Given the description of an element on the screen output the (x, y) to click on. 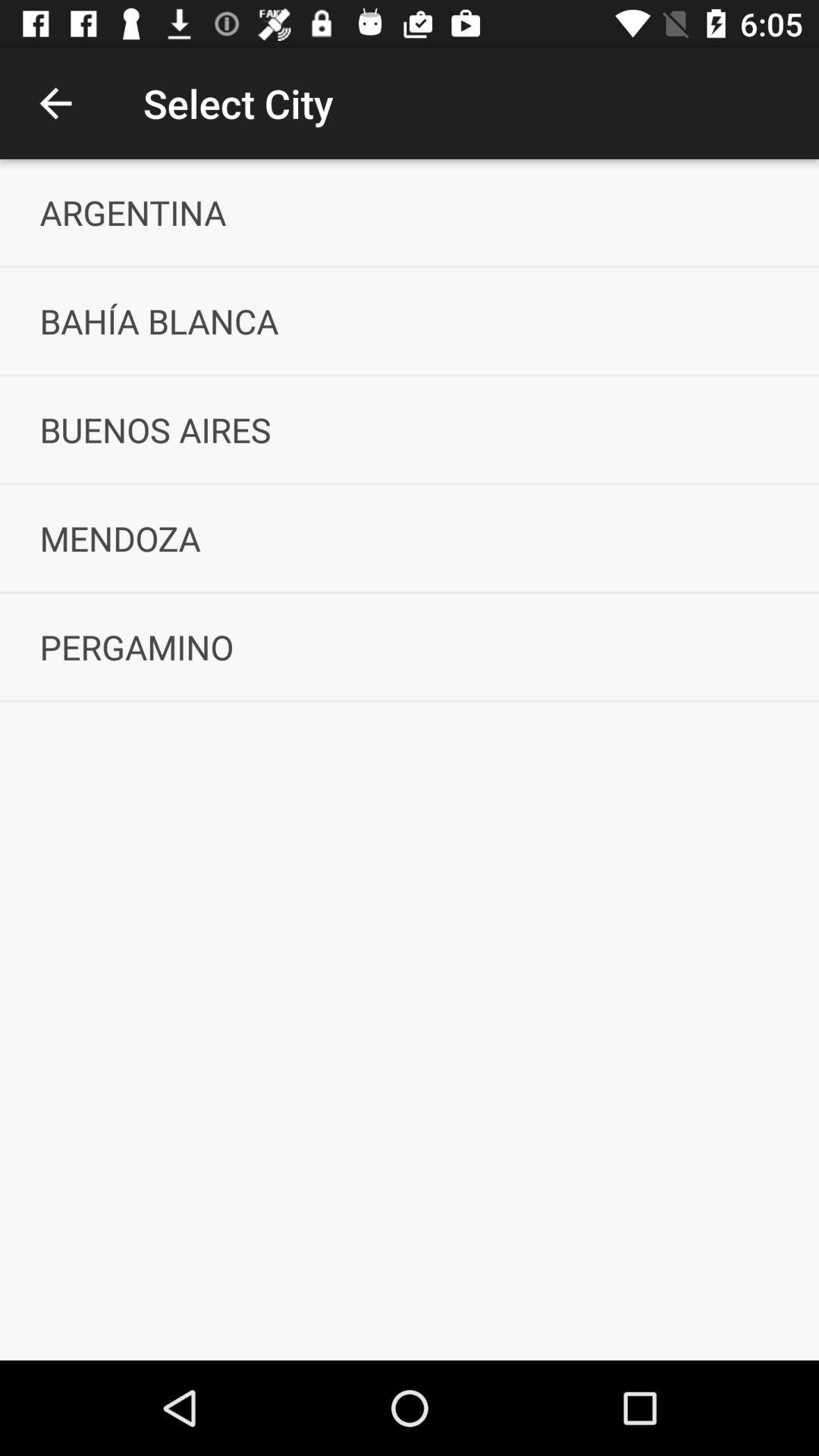
swipe until the mendoza icon (409, 538)
